Given the description of an element on the screen output the (x, y) to click on. 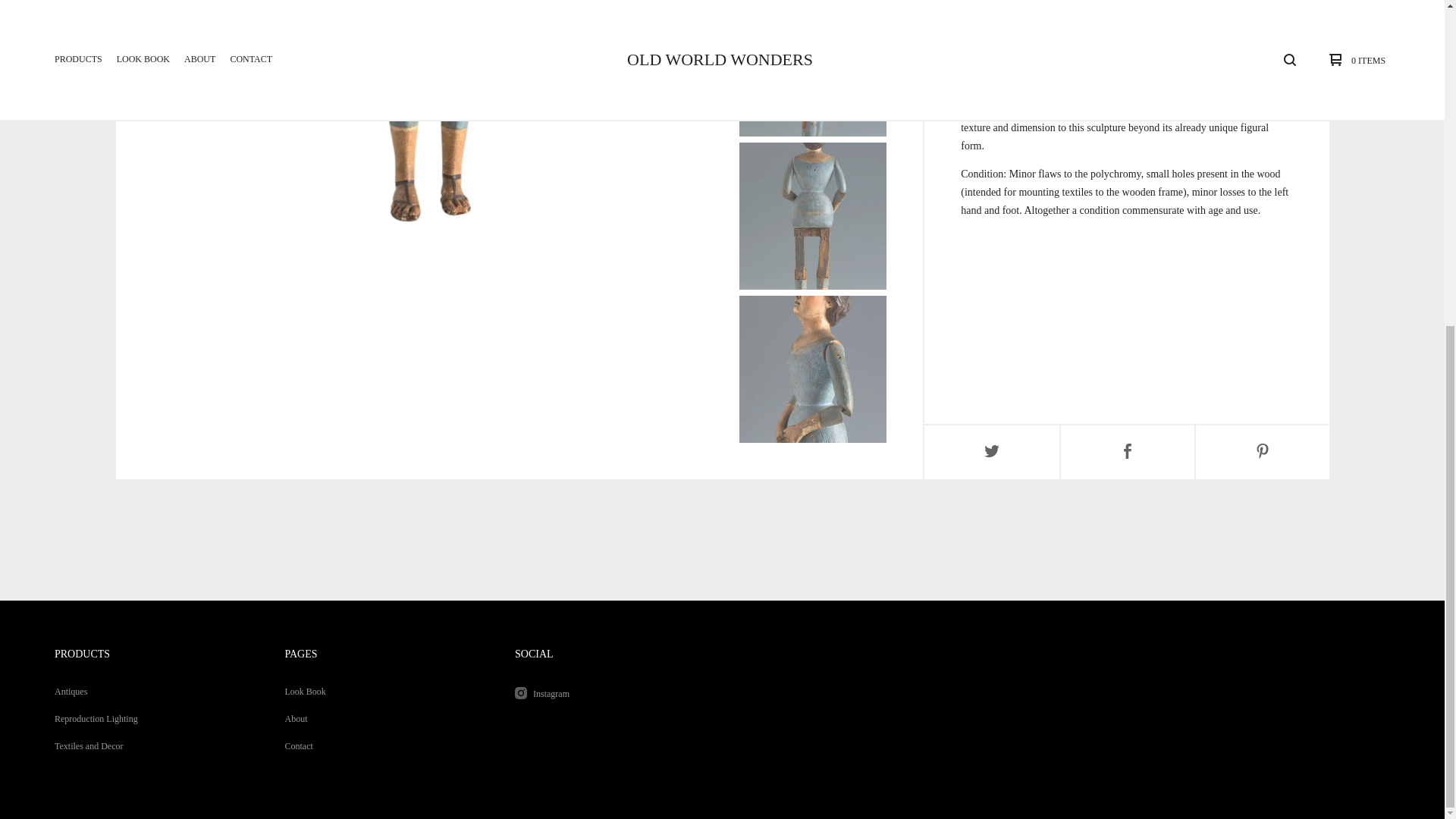
Contact (380, 746)
Look Book (380, 691)
About (380, 718)
PRODUCTS (82, 654)
Reproduction Lighting (149, 718)
Textiles and Decor (149, 746)
Antiques (149, 691)
Instagram (609, 692)
